Given the description of an element on the screen output the (x, y) to click on. 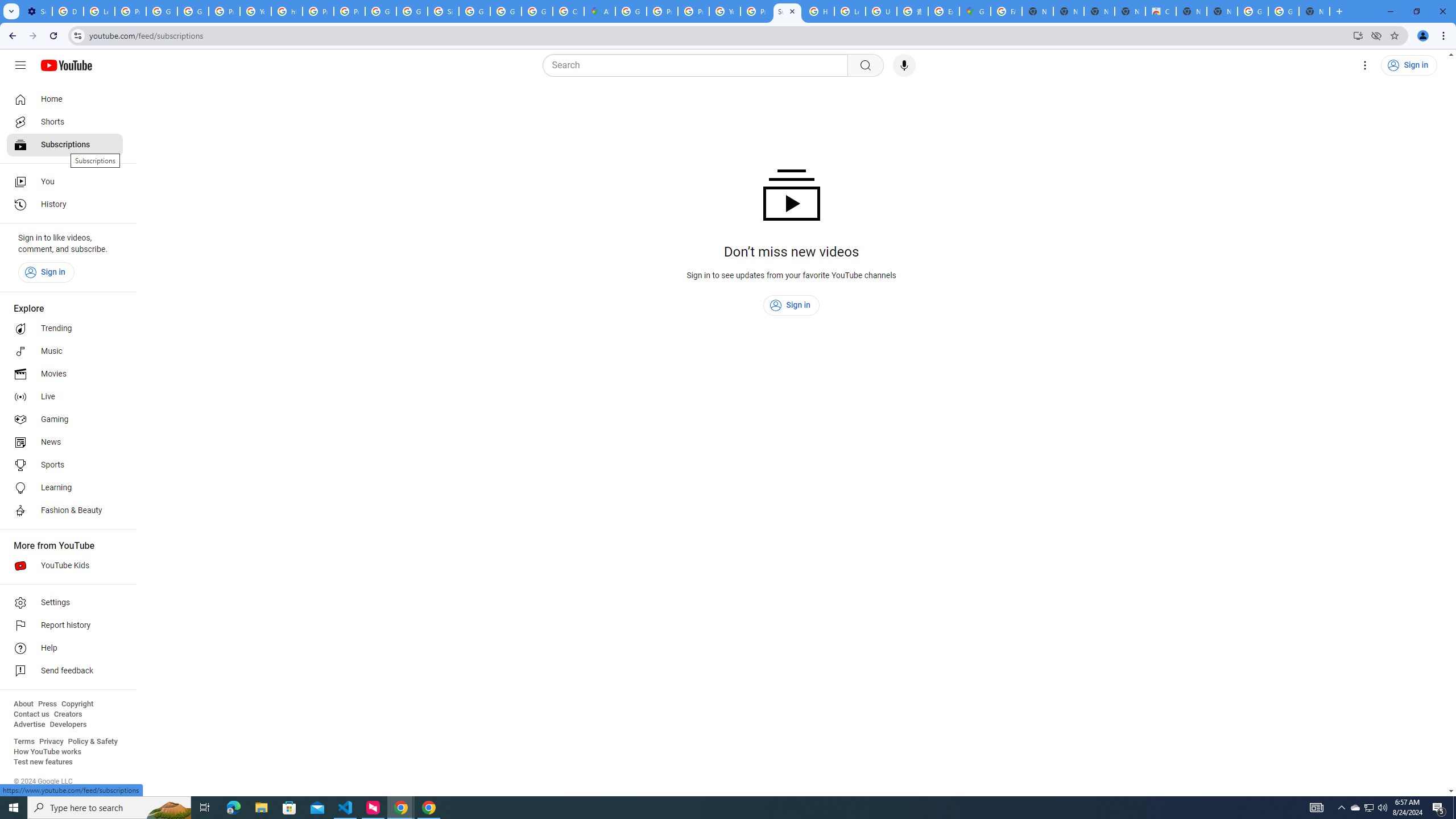
Send feedback (64, 671)
Guide (20, 65)
Policy & Safety (91, 741)
Install YouTube (1358, 35)
Privacy Help Center - Policies Help (693, 11)
Shorts (64, 121)
Trending (64, 328)
Live (64, 396)
